Given the description of an element on the screen output the (x, y) to click on. 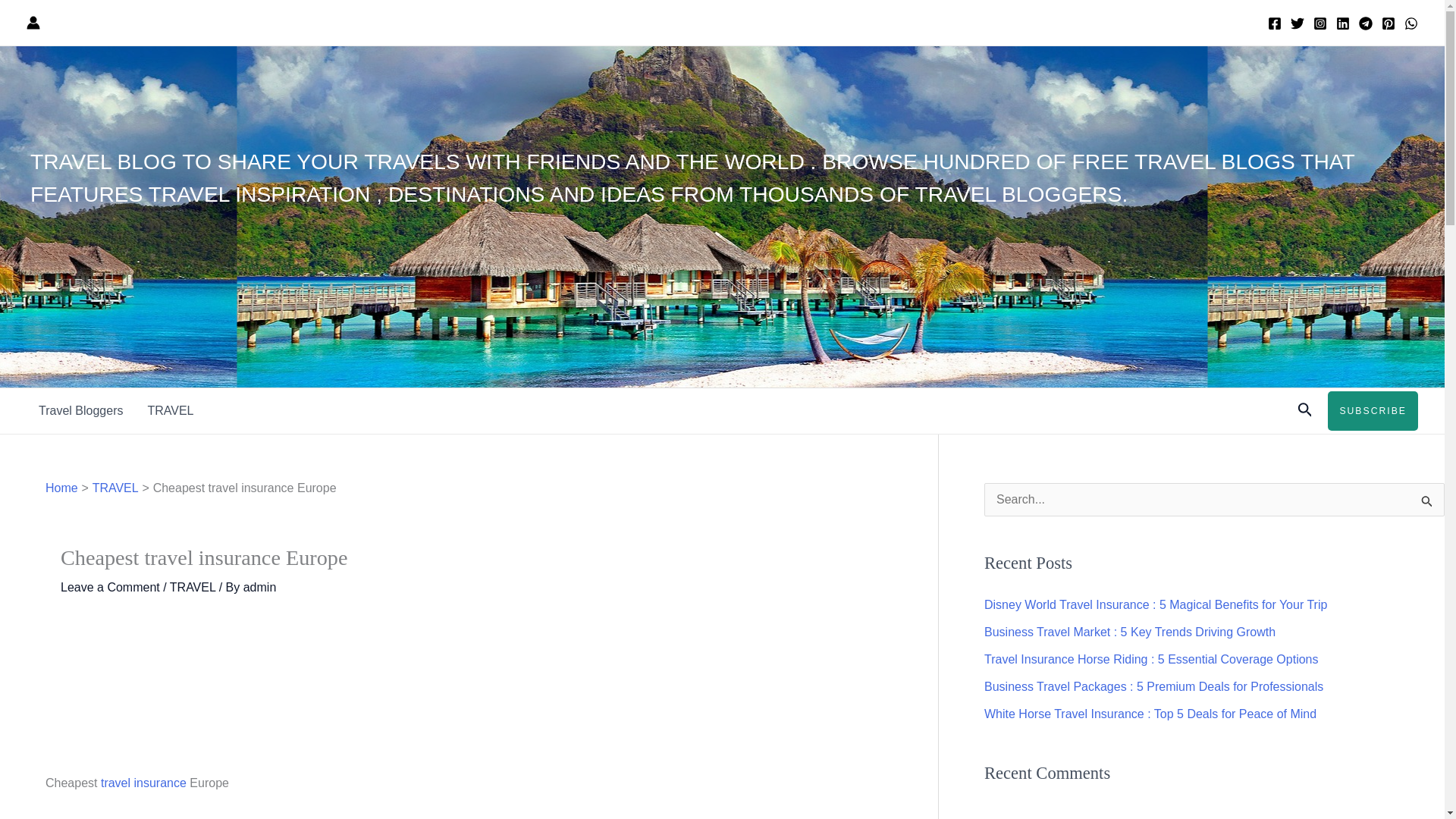
SUBSCRIBE (1372, 411)
Home (61, 487)
admin (259, 586)
TRAVEL (192, 586)
Advertisement (468, 695)
Travel Insurance Horse Riding : 5 Essential Coverage Options (1151, 658)
Leave a Comment (110, 586)
travel insurance (143, 782)
Business Travel Packages : 5 Premium Deals for Professionals (1153, 686)
TRAVEL (115, 487)
Business Travel Market : 5 Key Trends Driving Growth (1129, 631)
View all posts by admin (259, 586)
Travel Bloggers (80, 411)
White Horse Travel Insurance : Top 5 Deals for Peace of Mind (1150, 713)
